Given the description of an element on the screen output the (x, y) to click on. 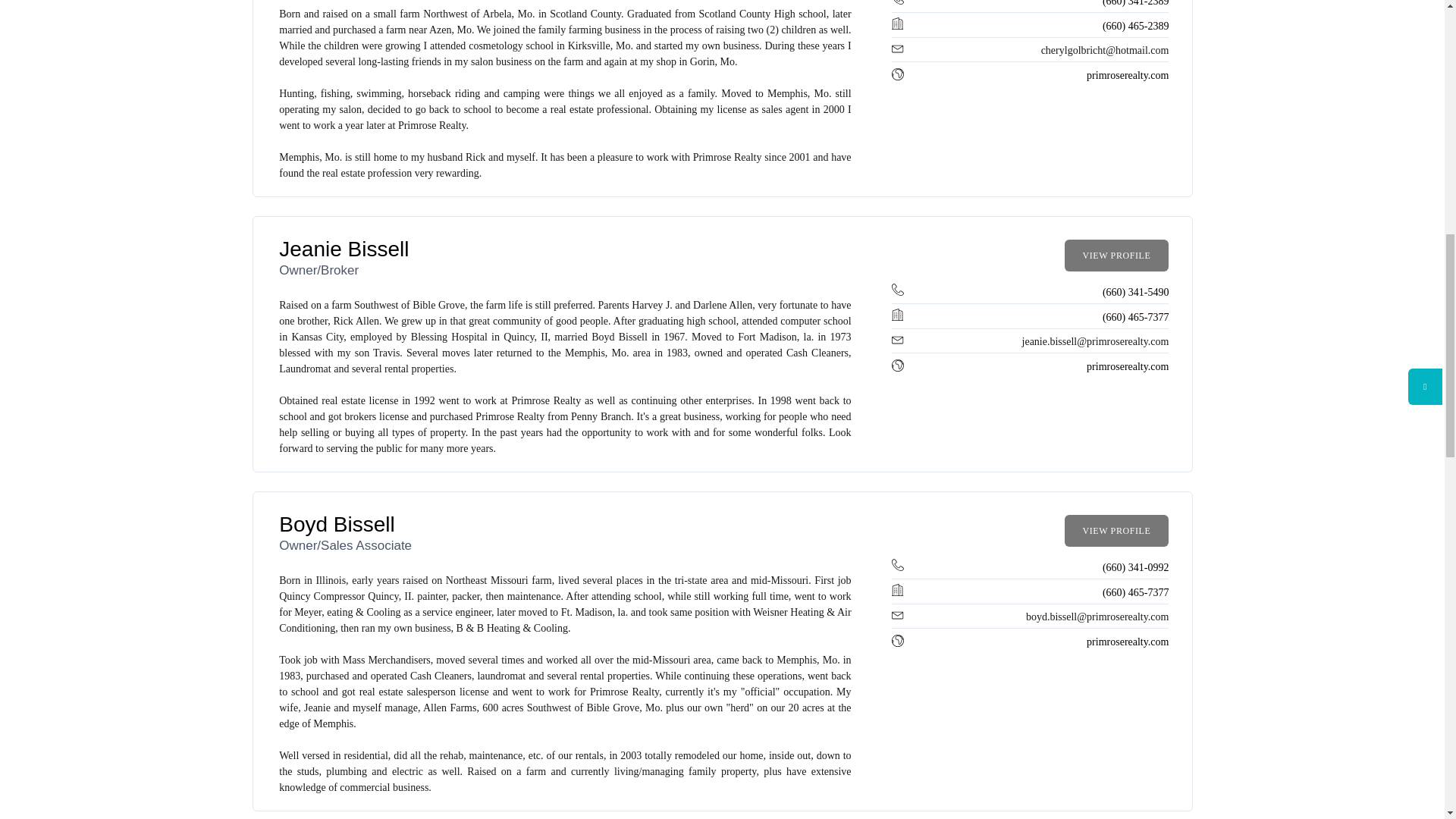
Jeanie Bissell (344, 249)
primroserealty.com (1127, 75)
Jeanie Bissell (344, 249)
Submit (682, 4)
Boyd Bissell (336, 524)
